Given the description of an element on the screen output the (x, y) to click on. 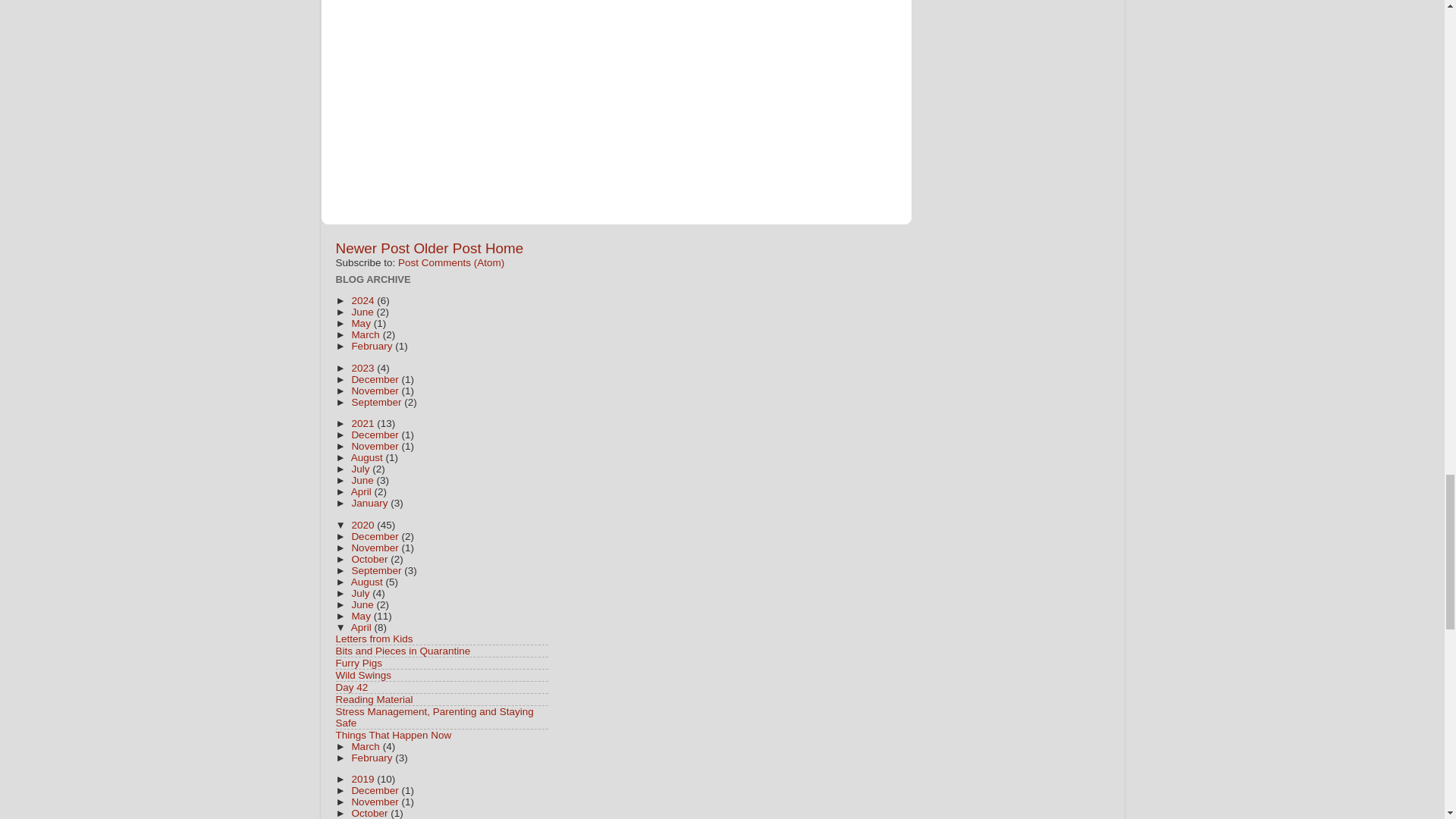
December (375, 378)
February (372, 346)
Newer Post (371, 248)
Home (503, 248)
2024 (363, 300)
2023 (363, 367)
Older Post (446, 248)
June (362, 311)
Newer Post (371, 248)
March (365, 334)
Older Post (446, 248)
May (361, 323)
